Given the description of an element on the screen output the (x, y) to click on. 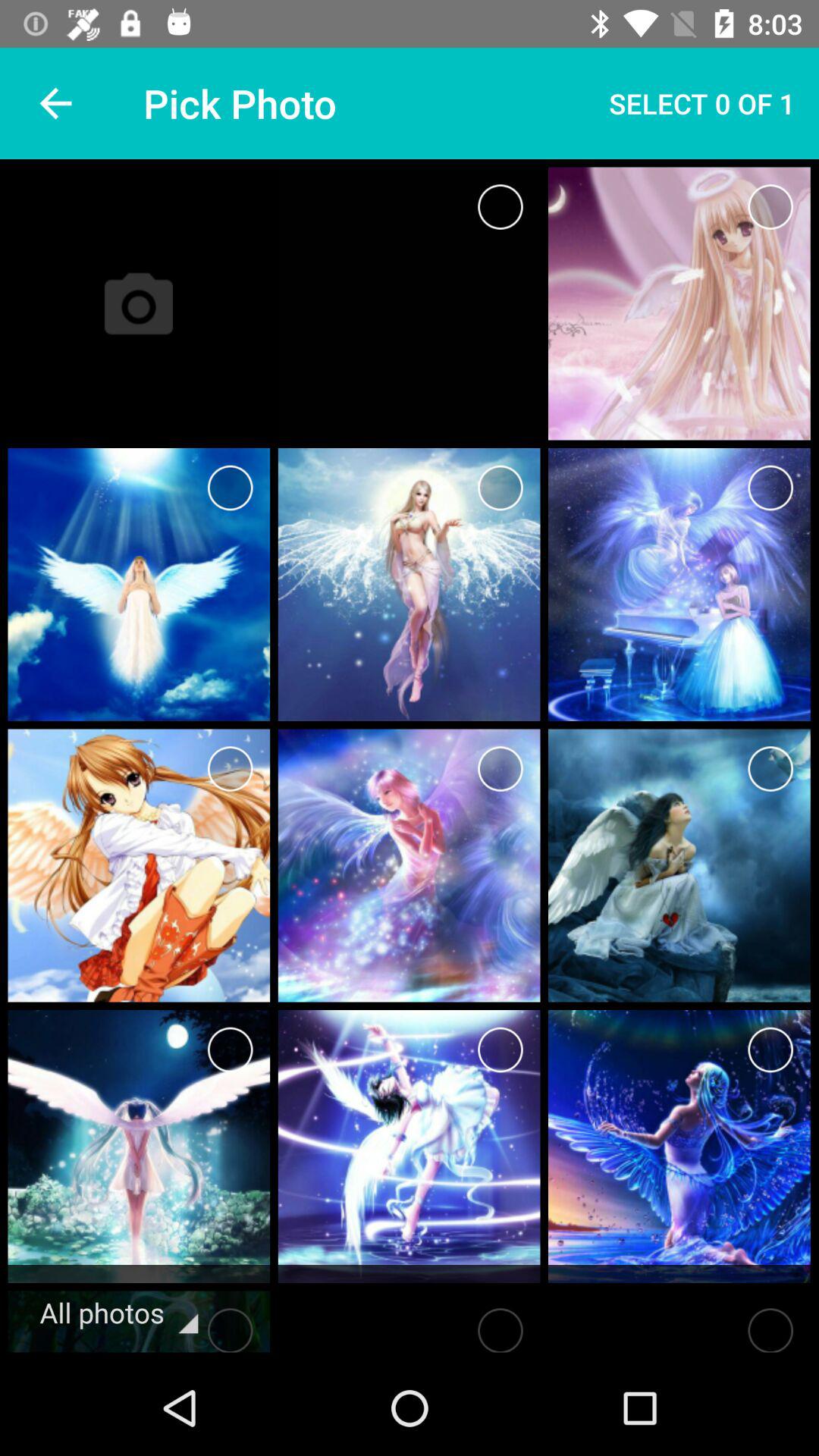
select photo (770, 487)
